Given the description of an element on the screen output the (x, y) to click on. 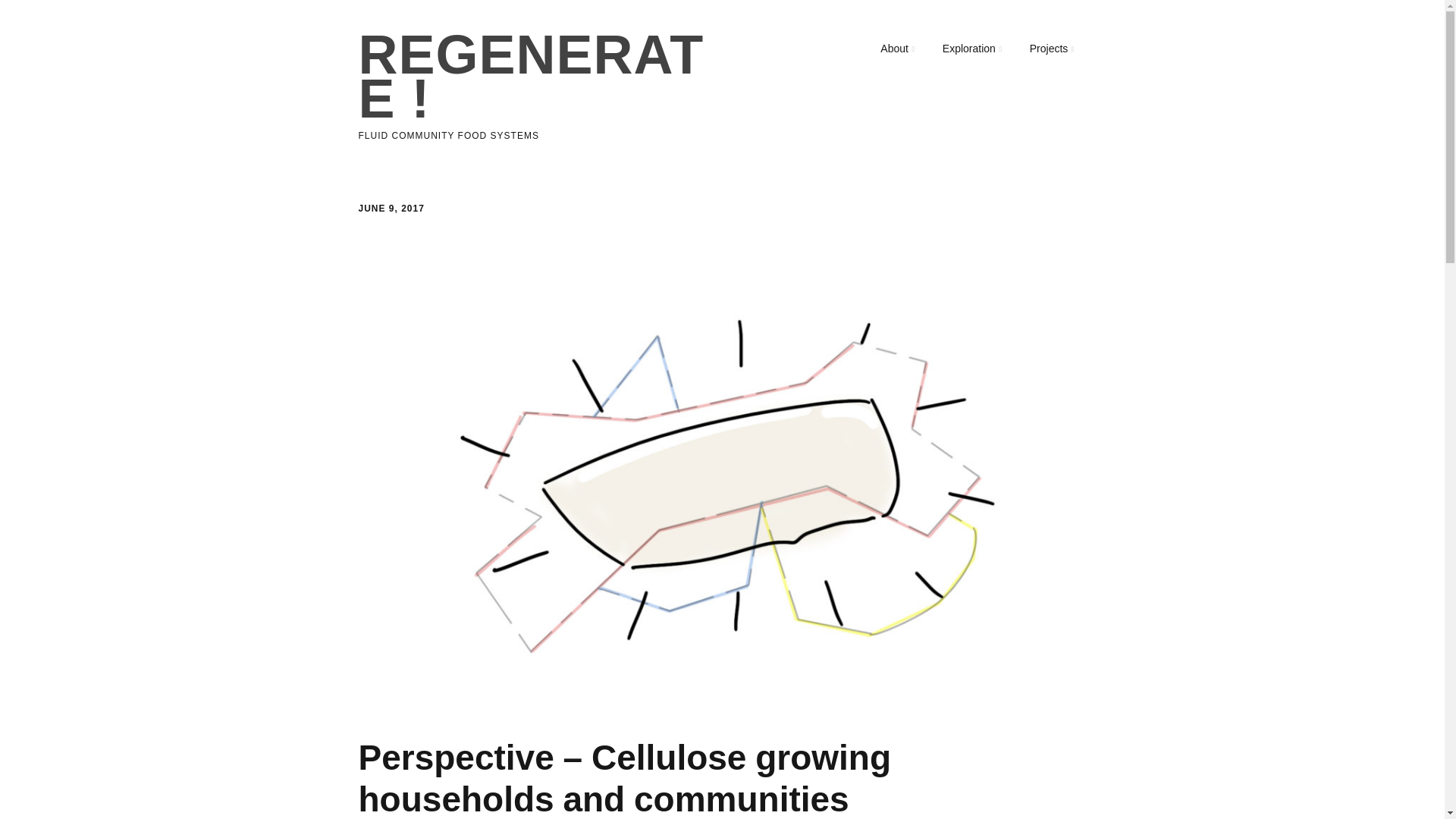
Projects (1051, 49)
Exploration (971, 49)
About (896, 49)
REGENERATE ! (530, 76)
